Given the description of an element on the screen output the (x, y) to click on. 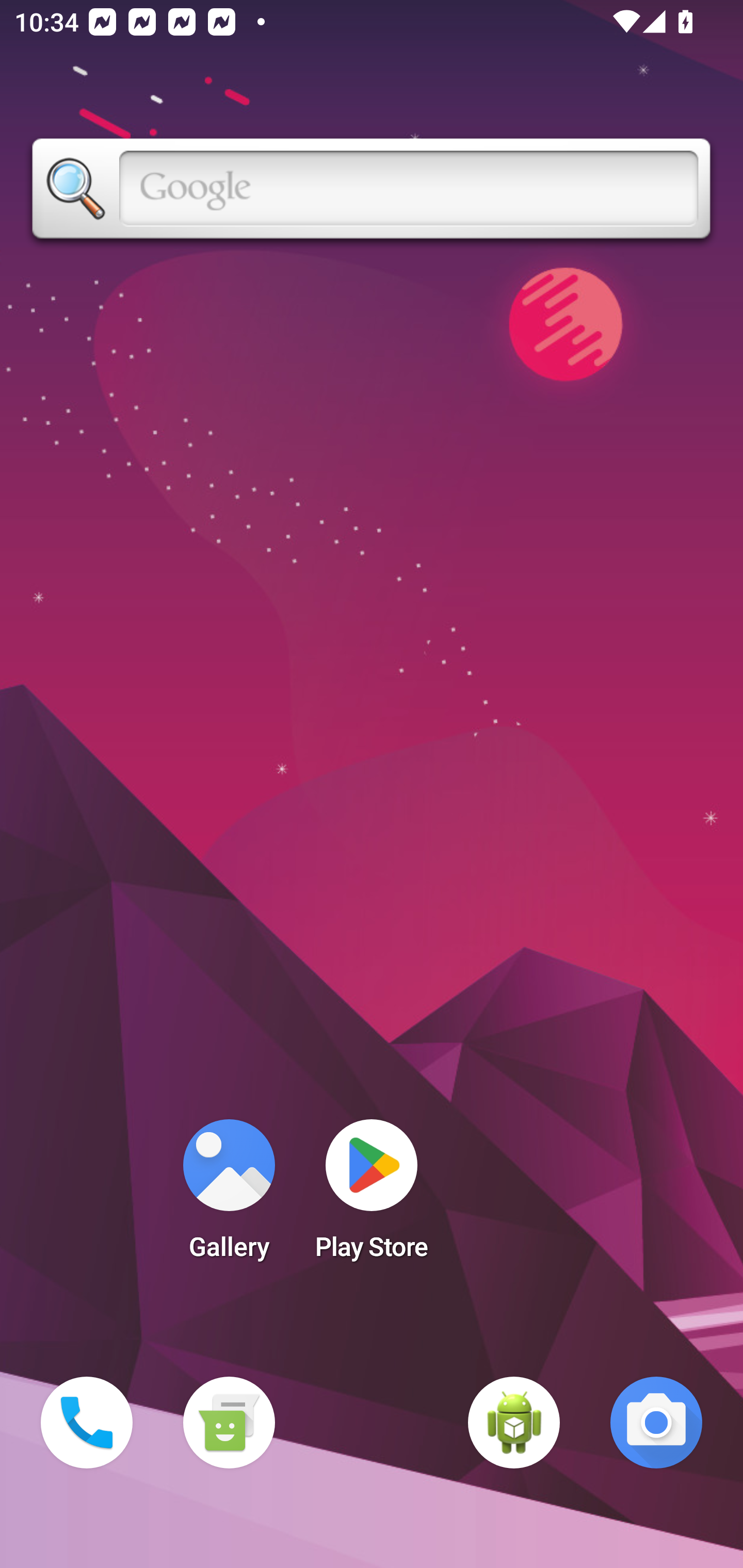
Gallery (228, 1195)
Play Store (371, 1195)
Phone (86, 1422)
Messaging (228, 1422)
WebView Browser Tester (513, 1422)
Camera (656, 1422)
